Given the description of an element on the screen output the (x, y) to click on. 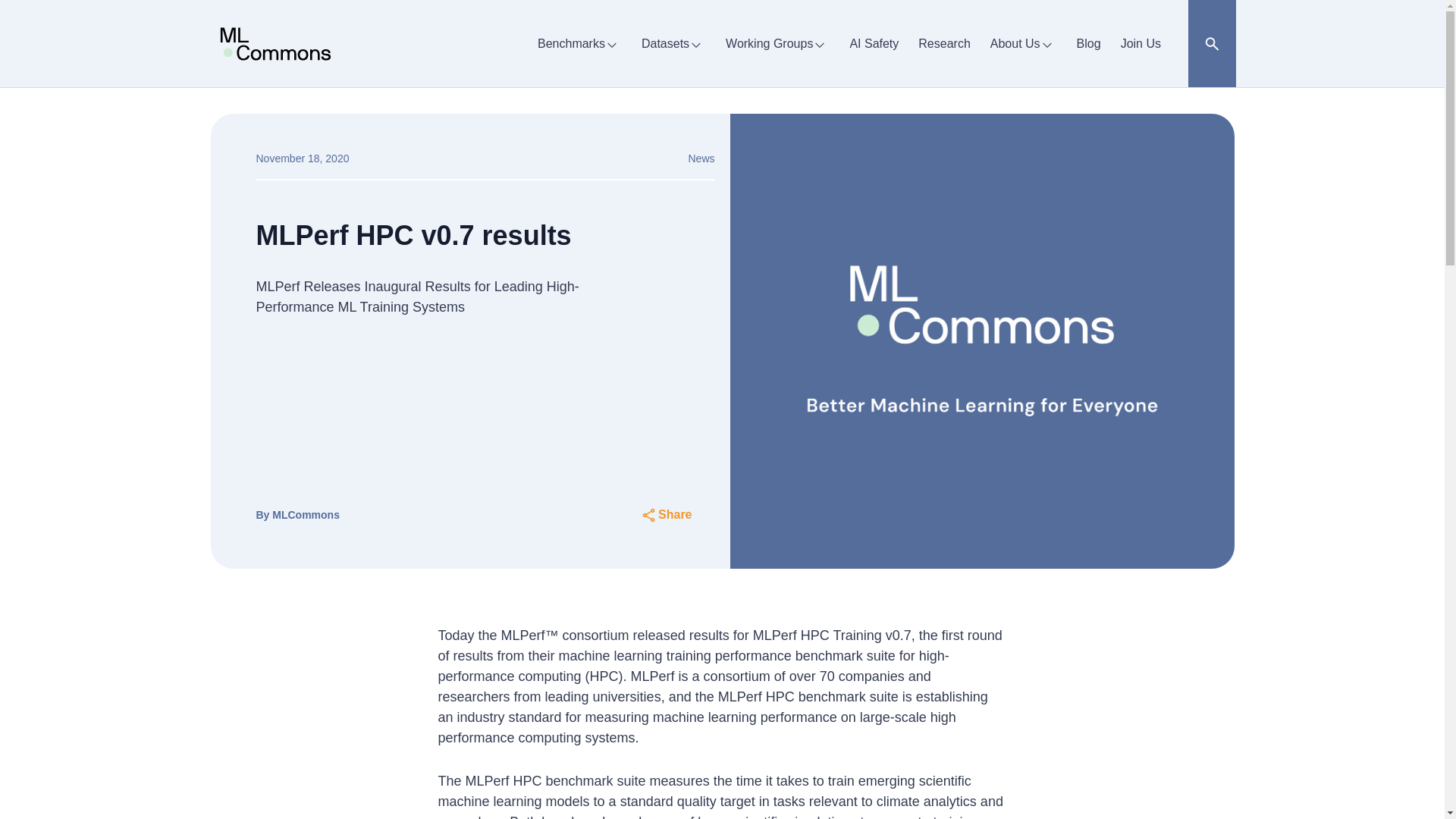
Working Groups (777, 43)
Share (665, 514)
Benchmarks (579, 43)
News (700, 158)
